Given the description of an element on the screen output the (x, y) to click on. 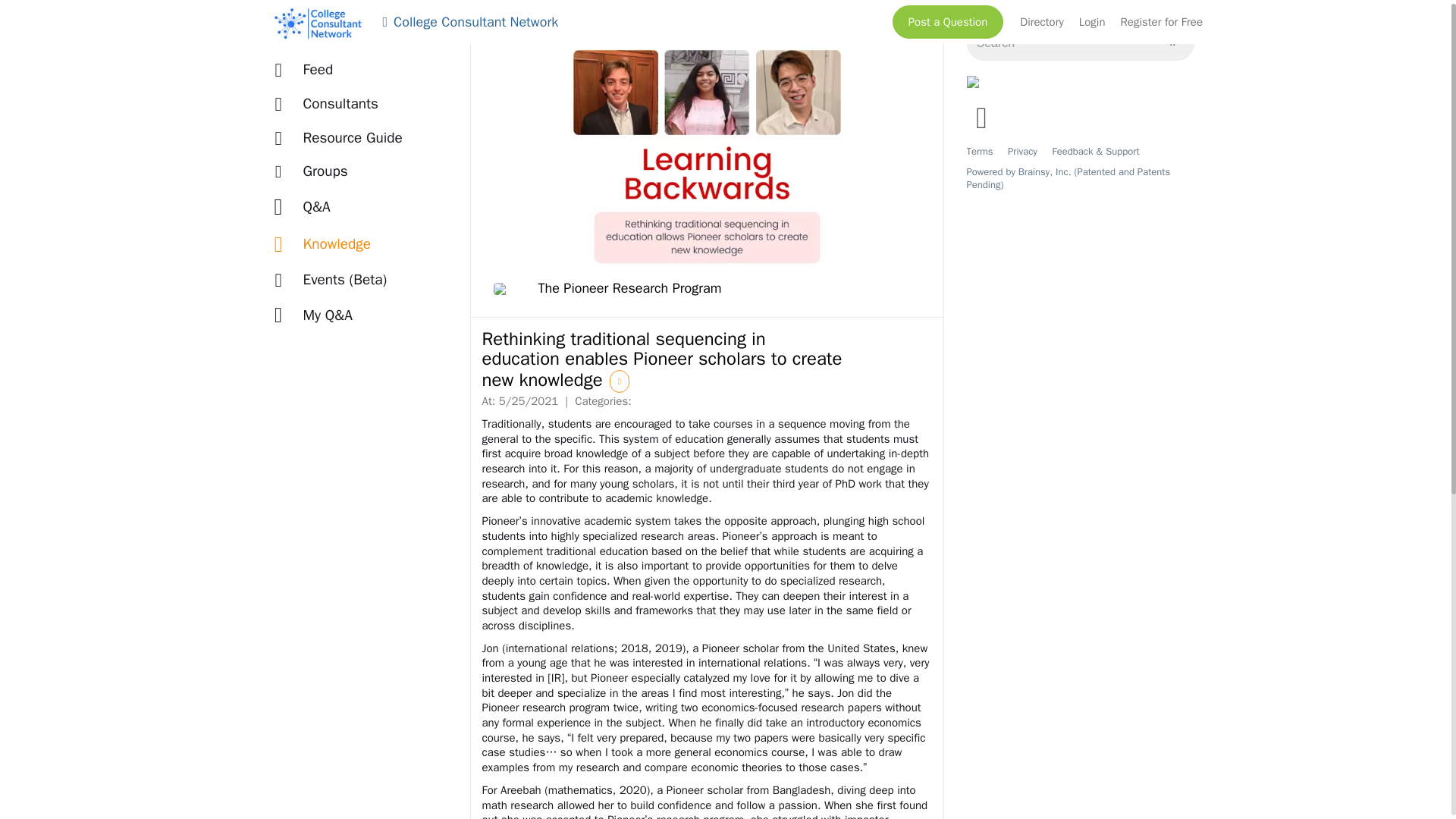
Directory (1042, 21)
College Consultant Network (469, 21)
Post a Question (948, 21)
Login (1091, 21)
The Pioneer Research Program (606, 289)
Knowledge (325, 244)
Register for Free (1161, 21)
Consultants (329, 103)
Feed (306, 69)
Groups (314, 171)
